Given the description of an element on the screen output the (x, y) to click on. 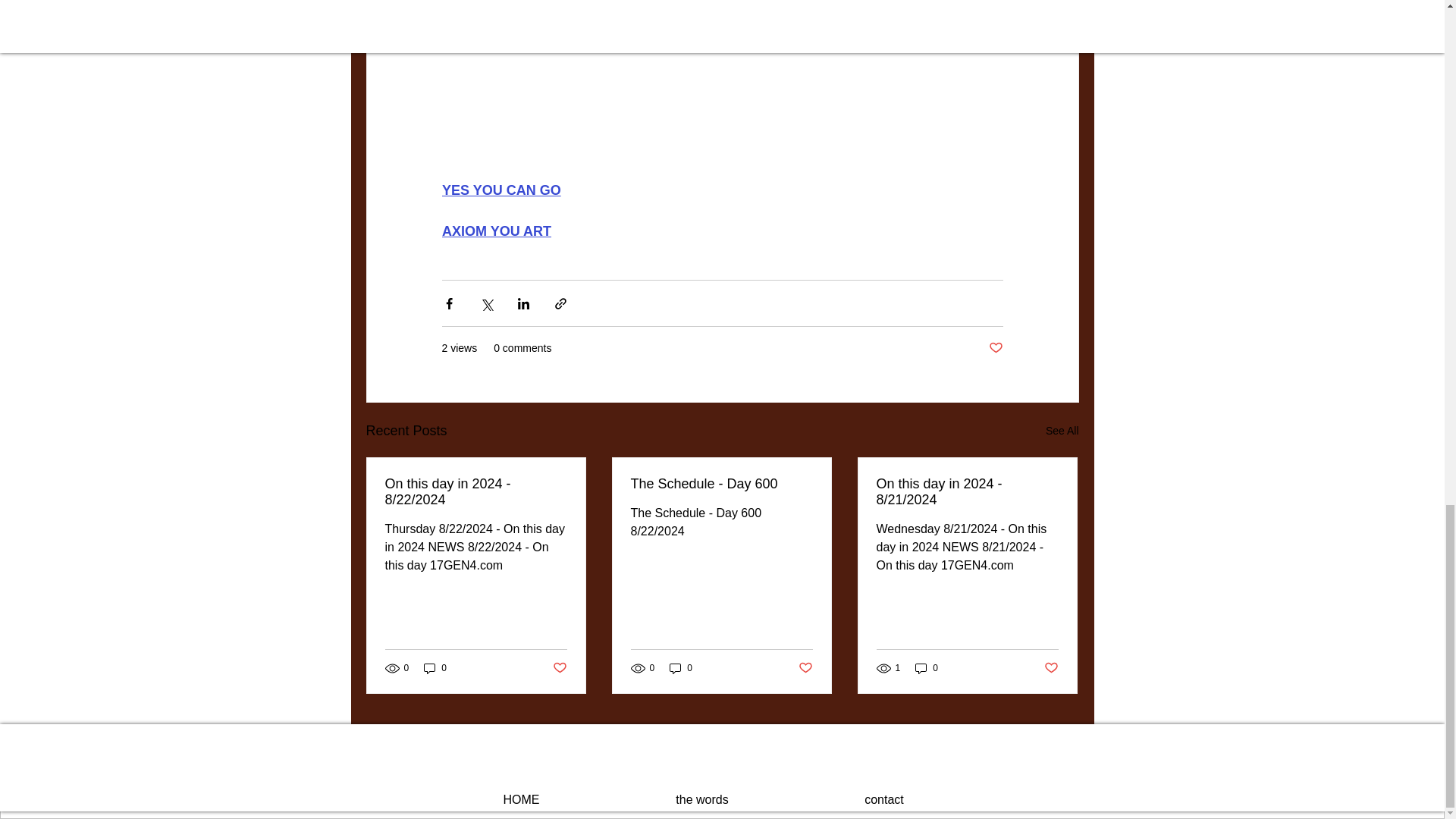
AXIOM YOU ART (495, 231)
The Schedule - Day 600 (721, 483)
0 (926, 667)
0 (435, 667)
Post not marked as liked (804, 667)
0 (681, 667)
Post not marked as liked (995, 348)
See All (1061, 431)
Post not marked as liked (558, 667)
Post not marked as liked (1050, 667)
